Given the description of an element on the screen output the (x, y) to click on. 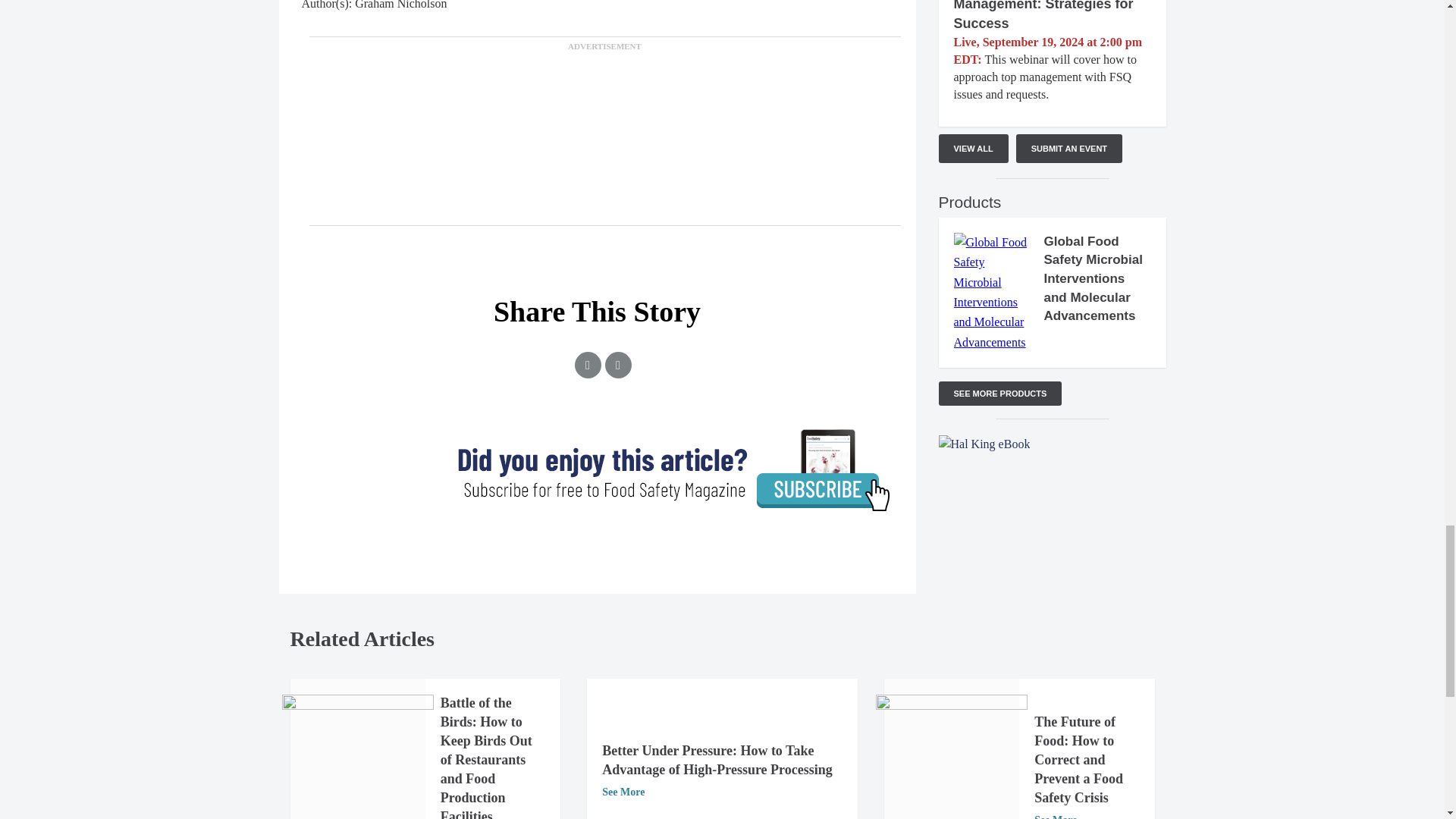
bird-flickr.png (357, 756)
plan-123rf.jpg (951, 756)
